Given the description of an element on the screen output the (x, y) to click on. 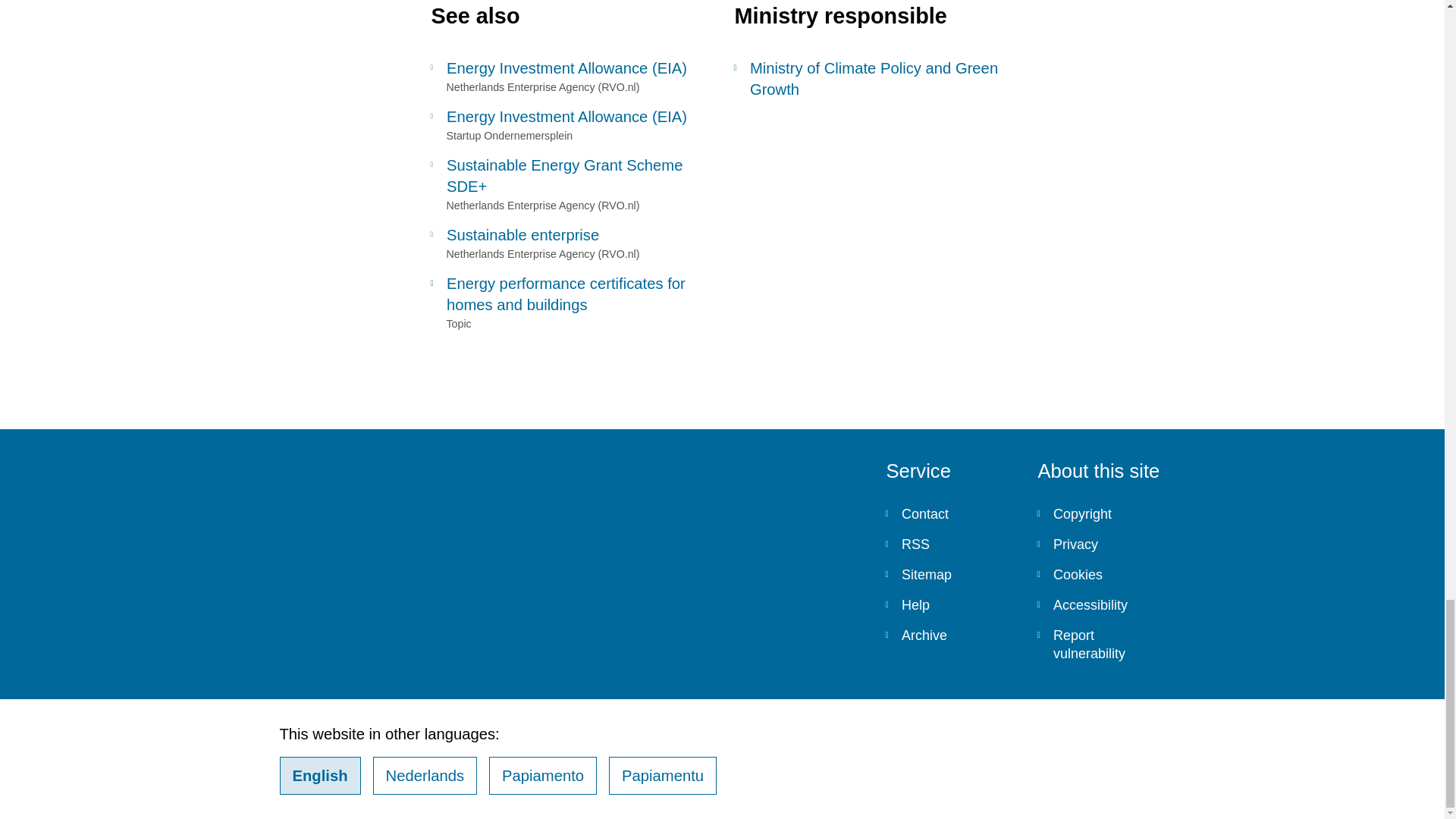
Ministry of Climate Policy and Green Growth (873, 78)
Nederlands (424, 775)
Cookies (1100, 574)
Privacy (1100, 544)
Papiamentu (662, 775)
Energy performance certificates for homes and buildings (570, 293)
Help (949, 604)
Accessibility (1100, 604)
RSS (949, 544)
Report vulnerability (1100, 644)
